Given the description of an element on the screen output the (x, y) to click on. 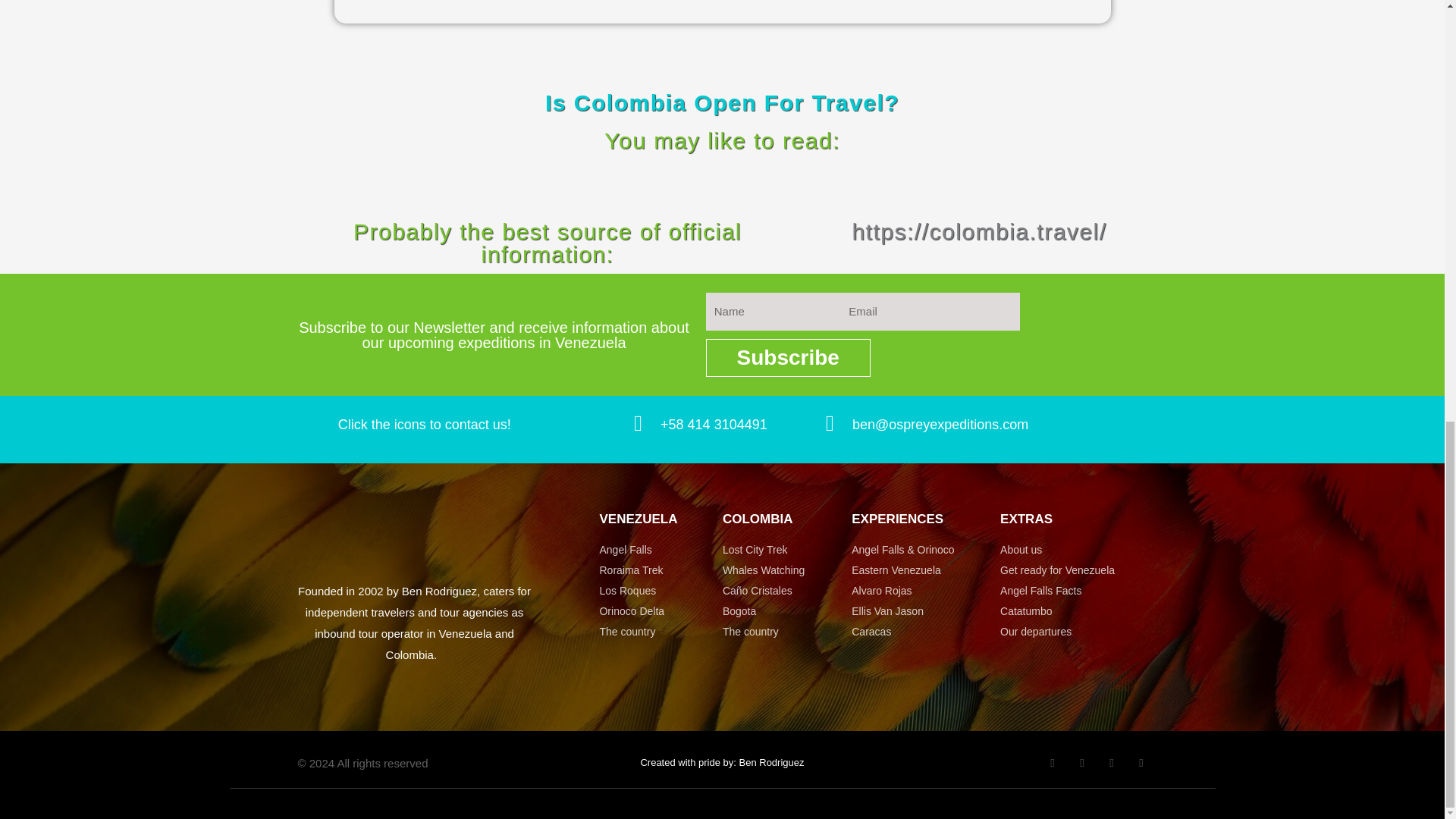
Subscribe (788, 357)
VENEZUELA (637, 518)
Los Roques (660, 591)
Orinoco Delta (660, 611)
Angel Falls (660, 550)
Roraima Trek (660, 570)
